Given the description of an element on the screen output the (x, y) to click on. 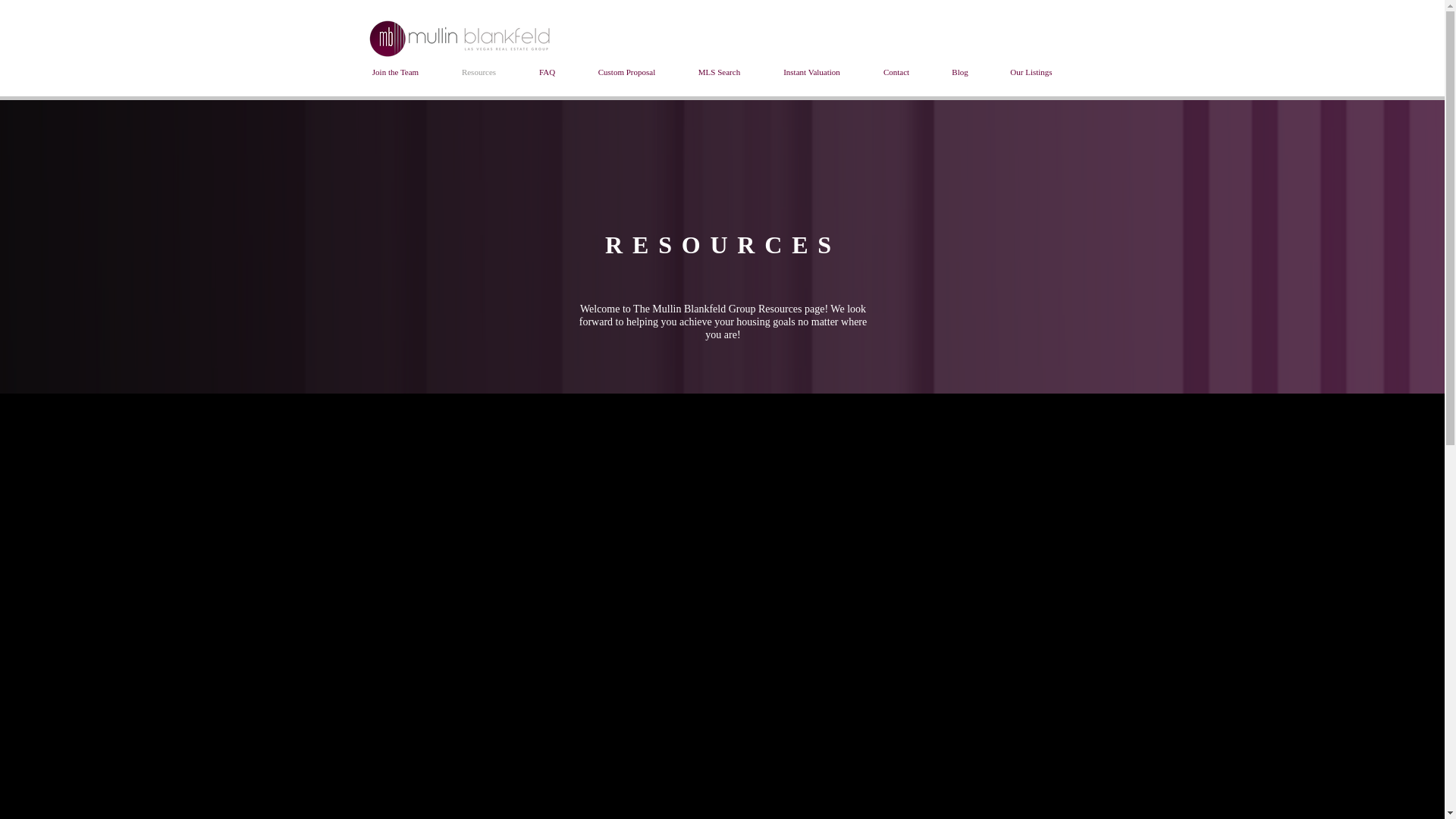
FAQ (546, 71)
MLS Search (719, 71)
Blog (960, 71)
Our Listings (1030, 71)
Custom Proposal (626, 71)
Instant Valuation (811, 71)
Resources (477, 71)
Contact (895, 71)
Join the Team (394, 71)
